Given the description of an element on the screen output the (x, y) to click on. 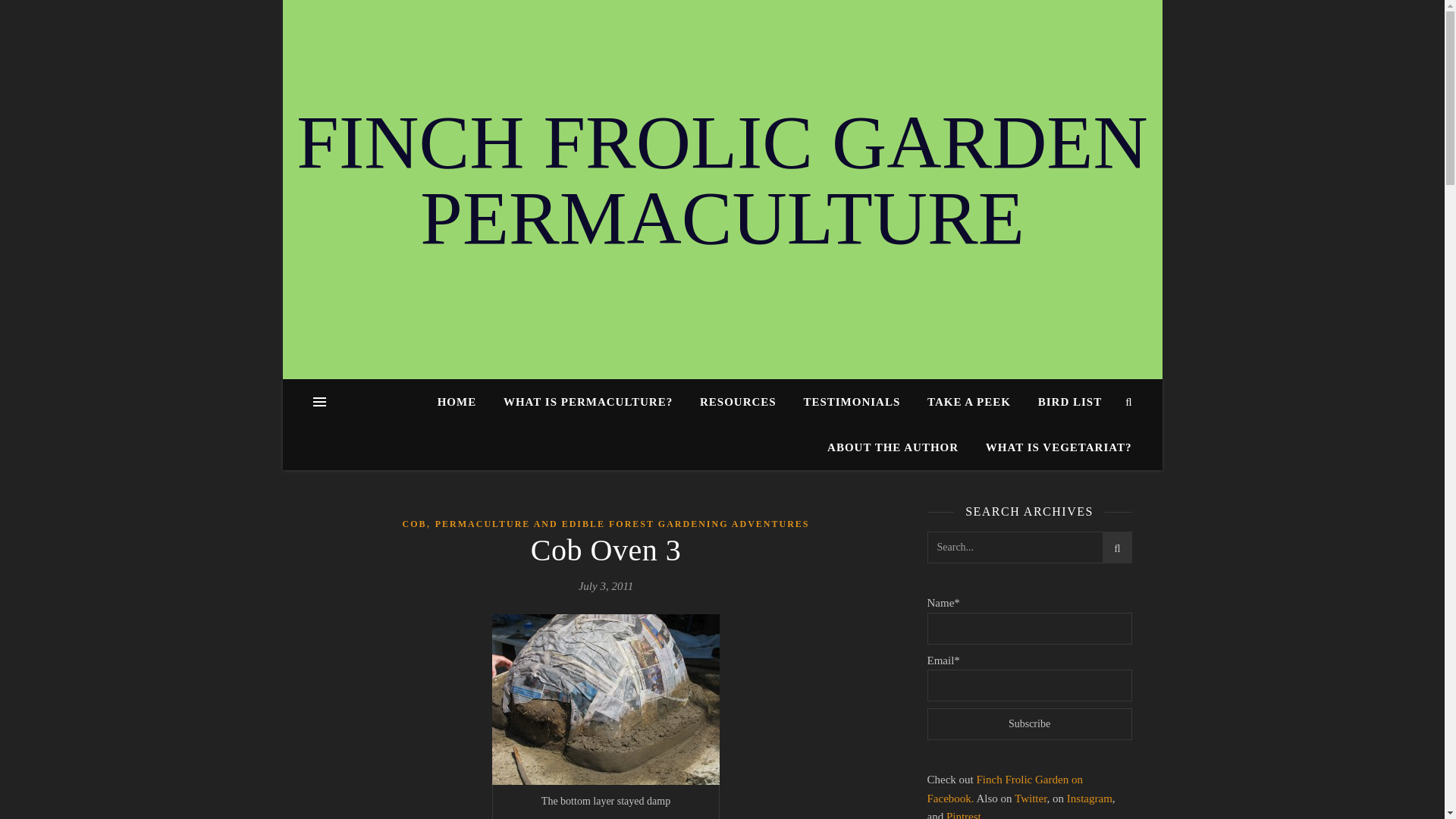
HOME (463, 402)
The bottom layer stayed damp (605, 699)
WHAT IS PERMACULTURE? (588, 402)
Subscribe (1028, 724)
BIRD LIST (1069, 402)
ABOUT THE AUTHOR (893, 447)
FINCH FROLIC GARDEN PERMACULTURE (721, 180)
PERMACULTURE AND EDIBLE FOREST GARDENING ADVENTURES (622, 524)
WHAT IS VEGETARIAT? (1053, 447)
TESTIMONIALS (851, 402)
